Given the description of an element on the screen output the (x, y) to click on. 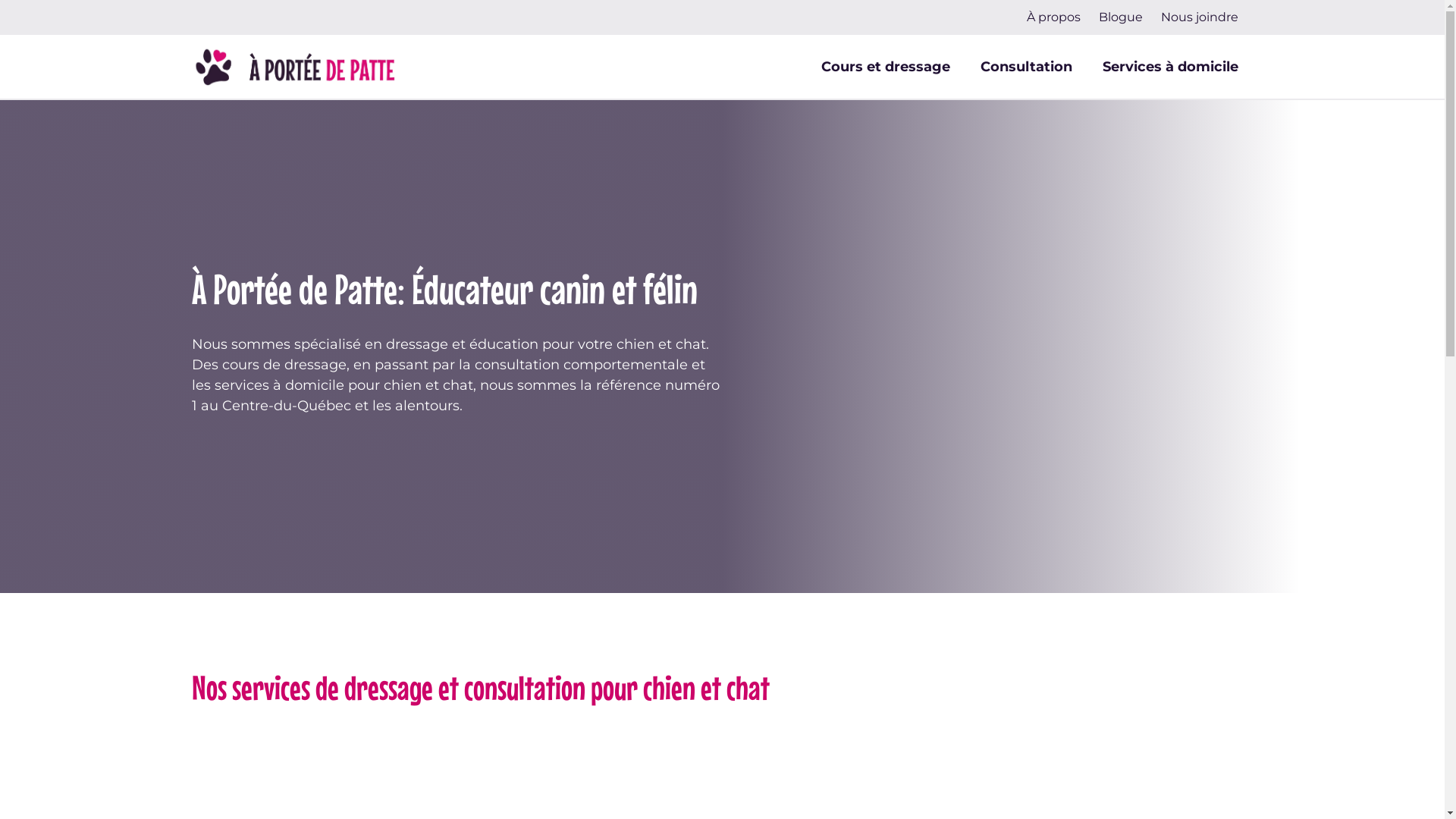
Blogue Element type: text (1120, 17)
Consultation Element type: text (1025, 66)
Nous joindre Element type: text (1199, 17)
Cours et dressage Element type: text (884, 66)
